Given the description of an element on the screen output the (x, y) to click on. 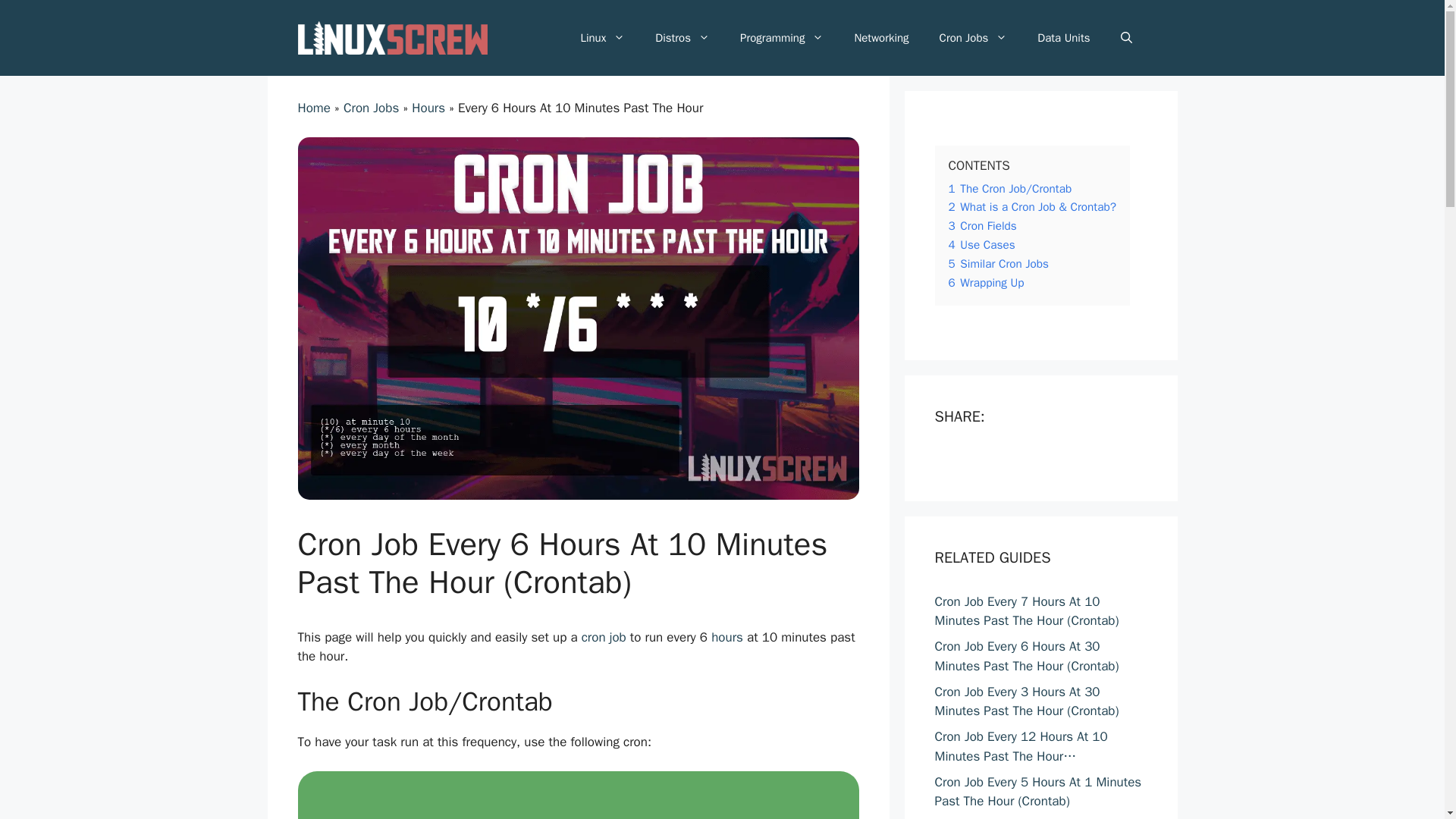
Cron Jobs (973, 37)
Cron Jobs (370, 107)
Go to Hours. (428, 107)
Hours (428, 107)
hours (726, 637)
Networking (880, 37)
Go to Cron Jobs. (370, 107)
Distros (682, 37)
Programming (781, 37)
cron job (603, 637)
Home (313, 107)
Data Units (1063, 37)
Linux (602, 37)
